Given the description of an element on the screen output the (x, y) to click on. 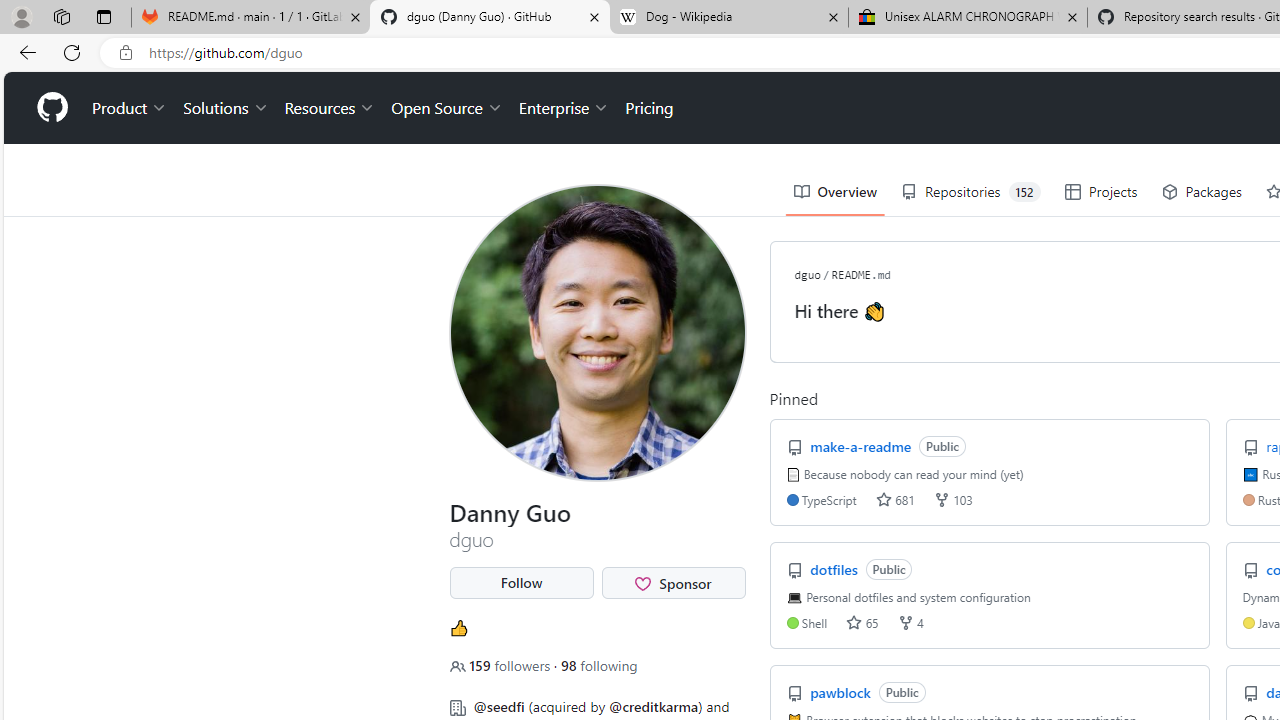
Solutions (225, 107)
stars (854, 622)
forks 4 (910, 622)
Projects (1100, 192)
@seedfi (498, 705)
View dguo's full-sized avatar (597, 332)
Enterprise (563, 107)
@creditkarma (653, 705)
dguo (806, 274)
Resources (330, 107)
